Given the description of an element on the screen output the (x, y) to click on. 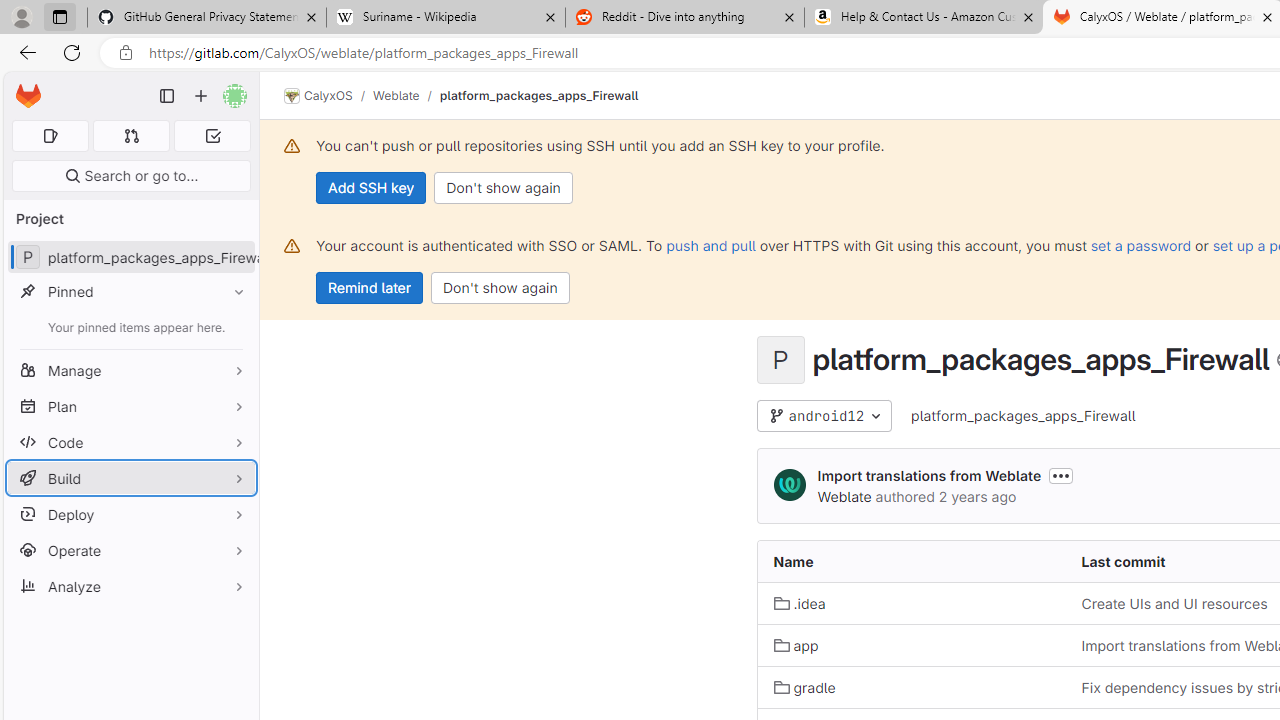
Deploy (130, 514)
Merge requests 0 (131, 136)
Assigned issues 0 (50, 136)
Analyze (130, 586)
.idea (911, 602)
Primary navigation sidebar (167, 96)
Code (130, 442)
Add SSH key (371, 187)
Operate (130, 550)
Toggle commit description (1061, 475)
.idea (799, 603)
